Given the description of an element on the screen output the (x, y) to click on. 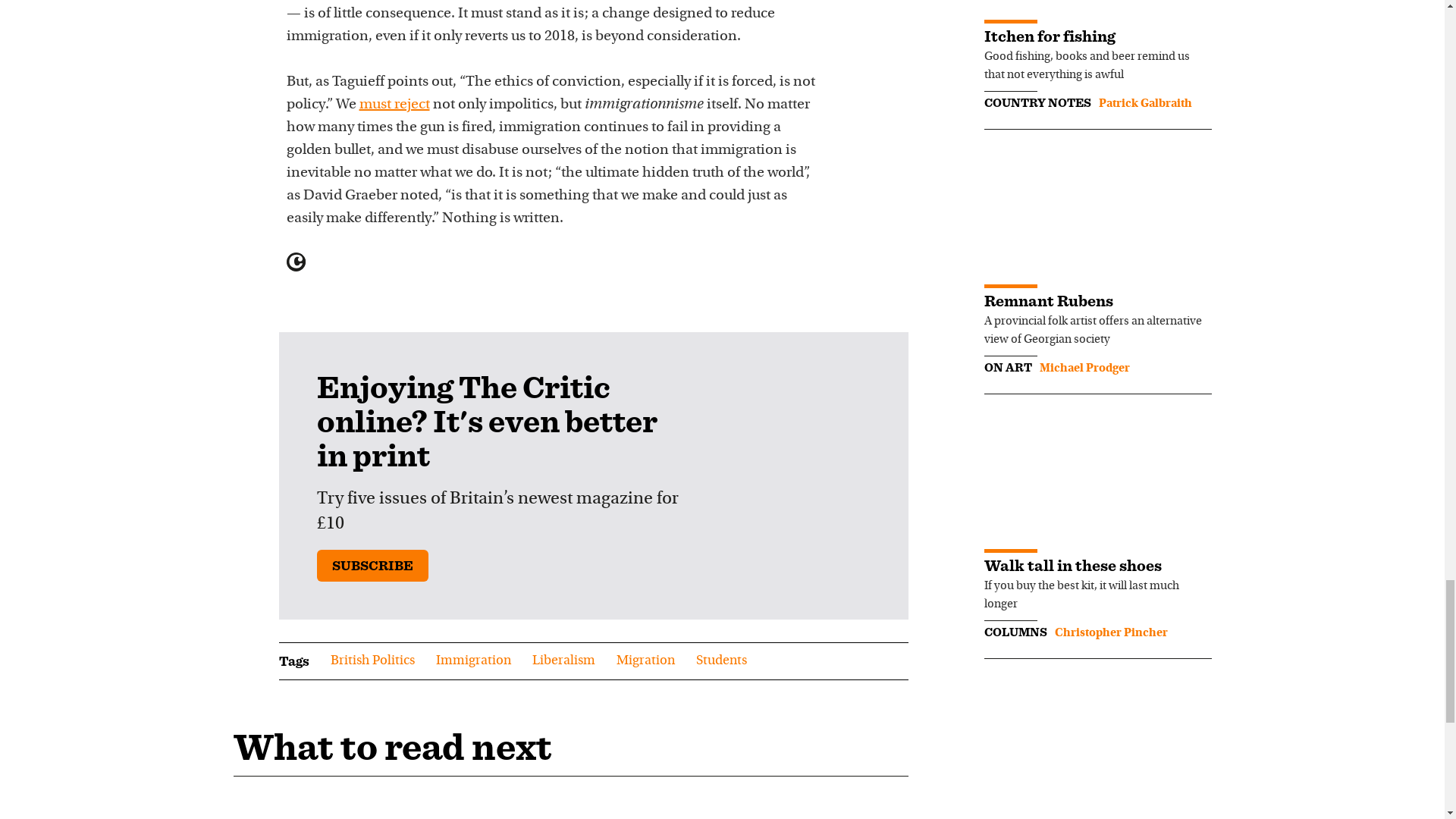
Posts by Michael Prodger (1084, 368)
Posts by Patrick Galbraith (1144, 103)
must reject (394, 104)
Posts by Christopher Pincher (1110, 633)
